Given the description of an element on the screen output the (x, y) to click on. 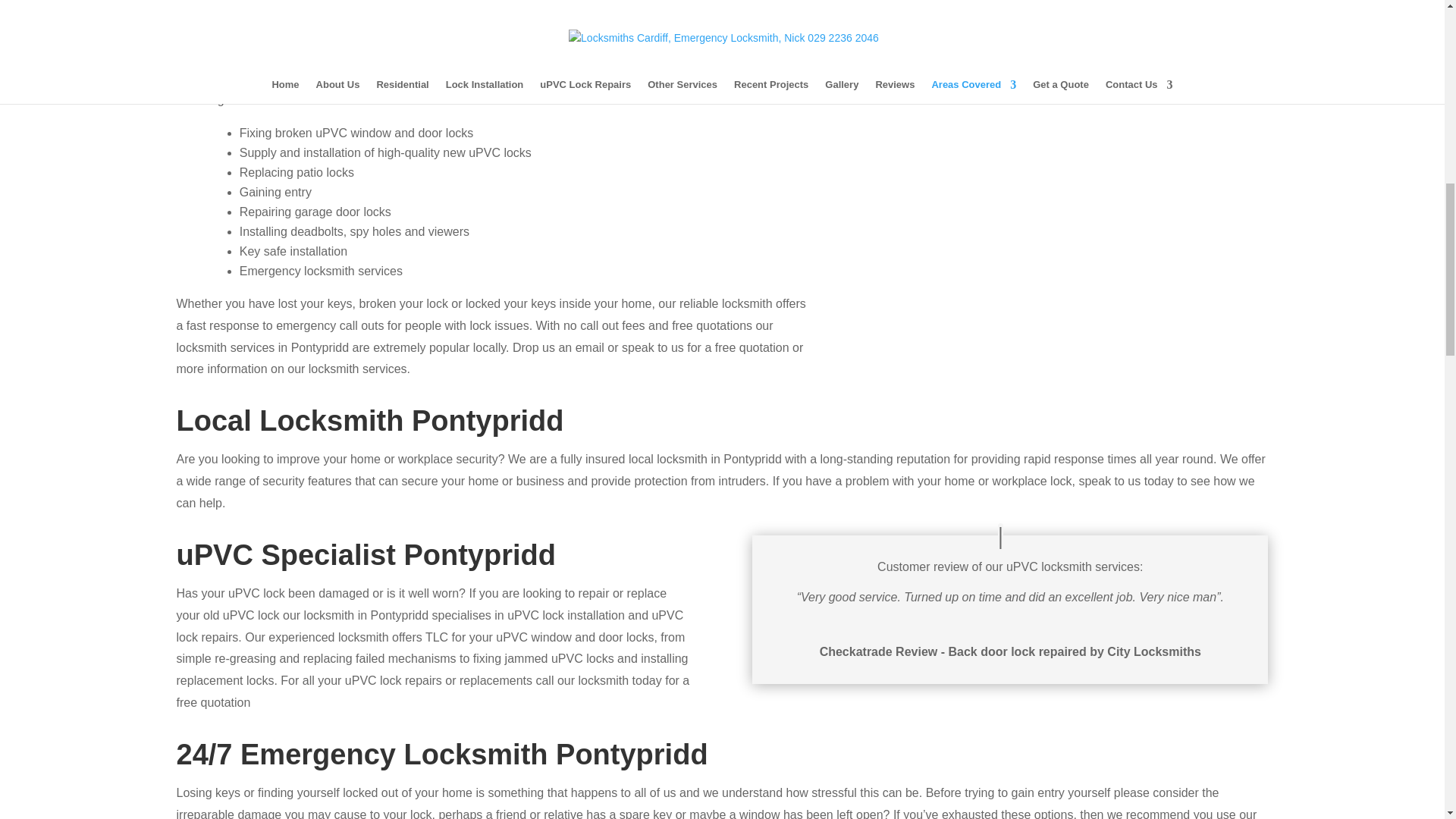
local locksmith pontypridd (934, 4)
